Given the description of an element on the screen output the (x, y) to click on. 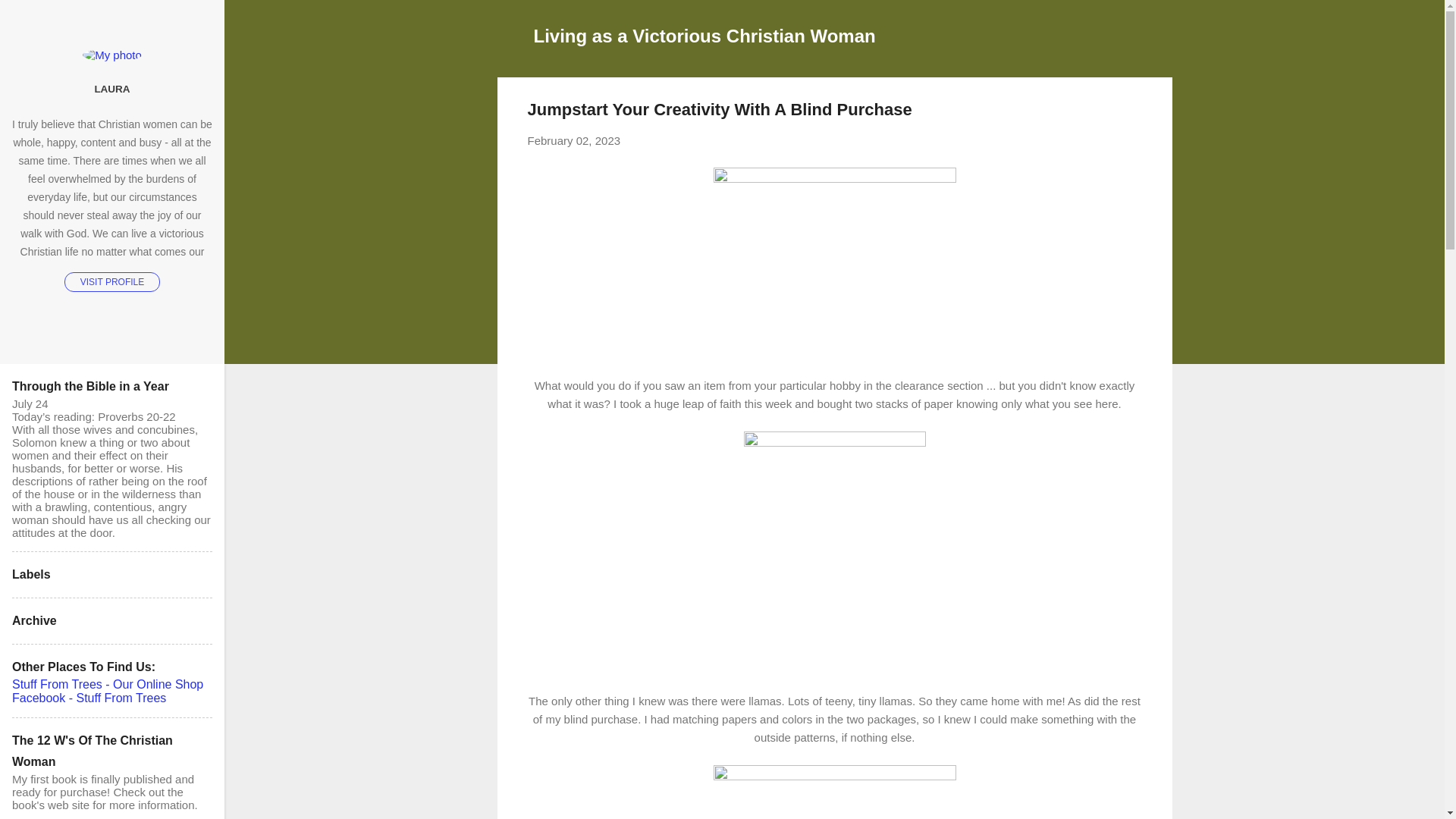
Living as a Victorious Christian Woman (705, 35)
LAURA (112, 88)
February 02, 2023 (574, 140)
Search (29, 18)
permanent link (574, 140)
